Given the description of an element on the screen output the (x, y) to click on. 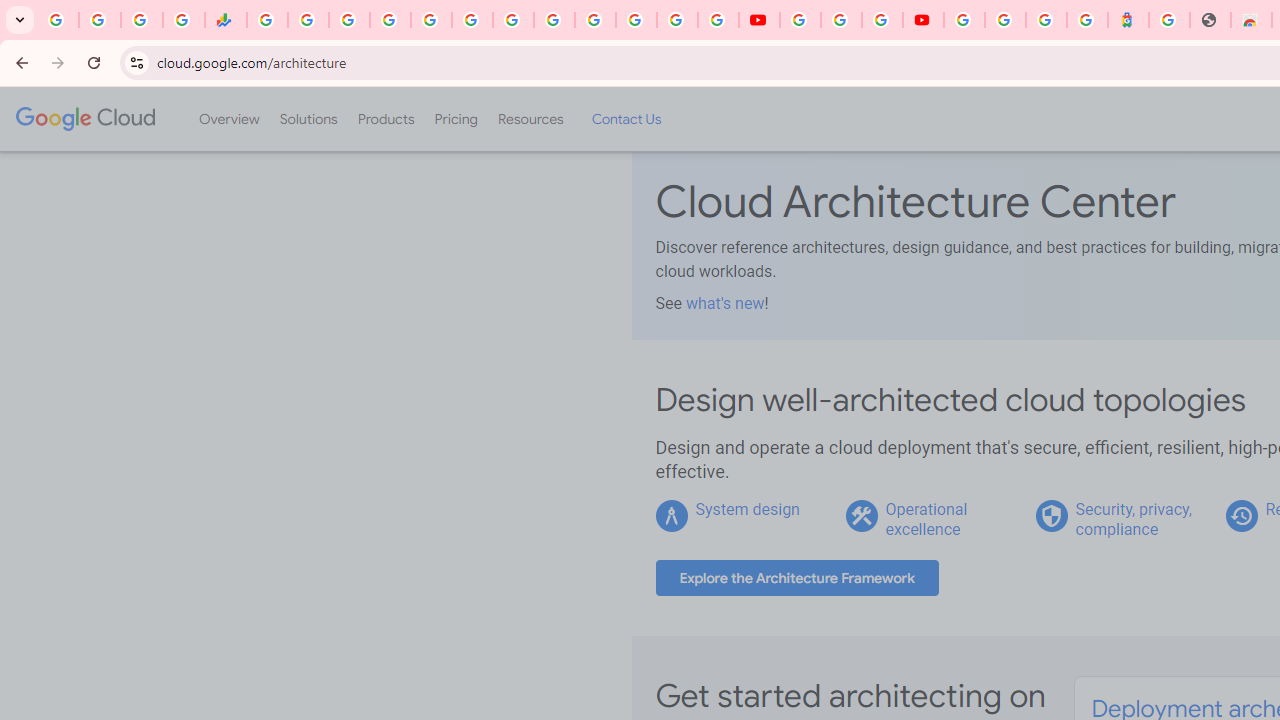
Content Creator Programs & Opportunities - YouTube Creators (923, 20)
Operational excellence (925, 519)
YouTube (758, 20)
Create your Google Account (881, 20)
Sign in - Google Accounts (594, 20)
